Given the description of an element on the screen output the (x, y) to click on. 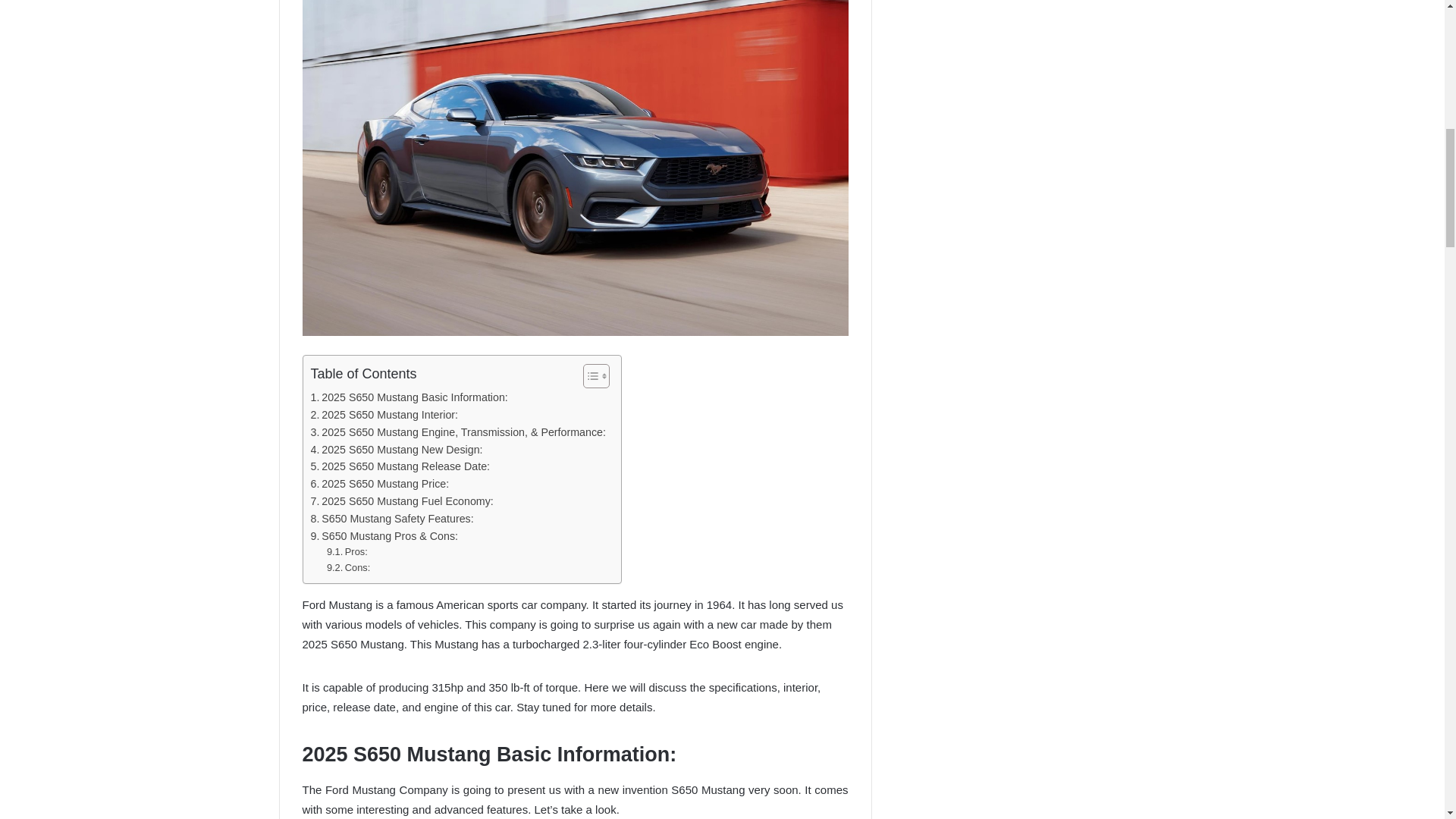
S650 Mustang Safety Features: (392, 518)
2025 S650 Mustang Release Date: (400, 466)
2025 S650 Mustang Basic Information: (409, 397)
2025 S650 Mustang Basic Information: (409, 397)
Cons: (347, 568)
Pros: (347, 552)
2025 S650 Mustang New Design: (397, 449)
2025 S650 Mustang New Design: (397, 449)
2025 S650 Mustang Interior: (384, 415)
Cons: (347, 568)
2025 S650 Mustang Price: (380, 484)
2025 S650 Mustang Fuel Economy: (402, 501)
Pros: (347, 552)
2025 S650 Mustang Interior: (384, 415)
2025 S650 Mustang Fuel Economy: (402, 501)
